Given the description of an element on the screen output the (x, y) to click on. 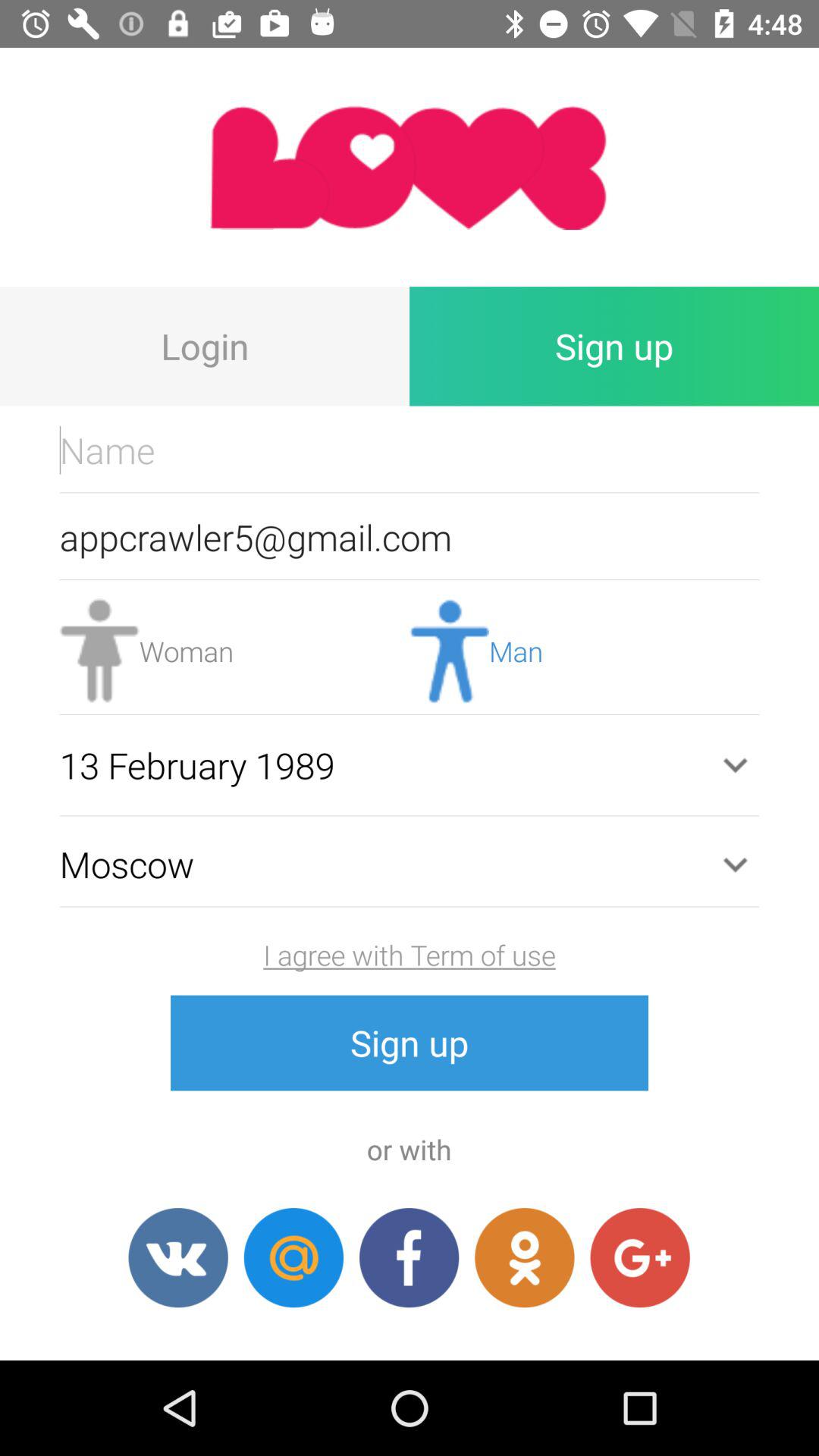
go to facebook (408, 1257)
